Given the description of an element on the screen output the (x, y) to click on. 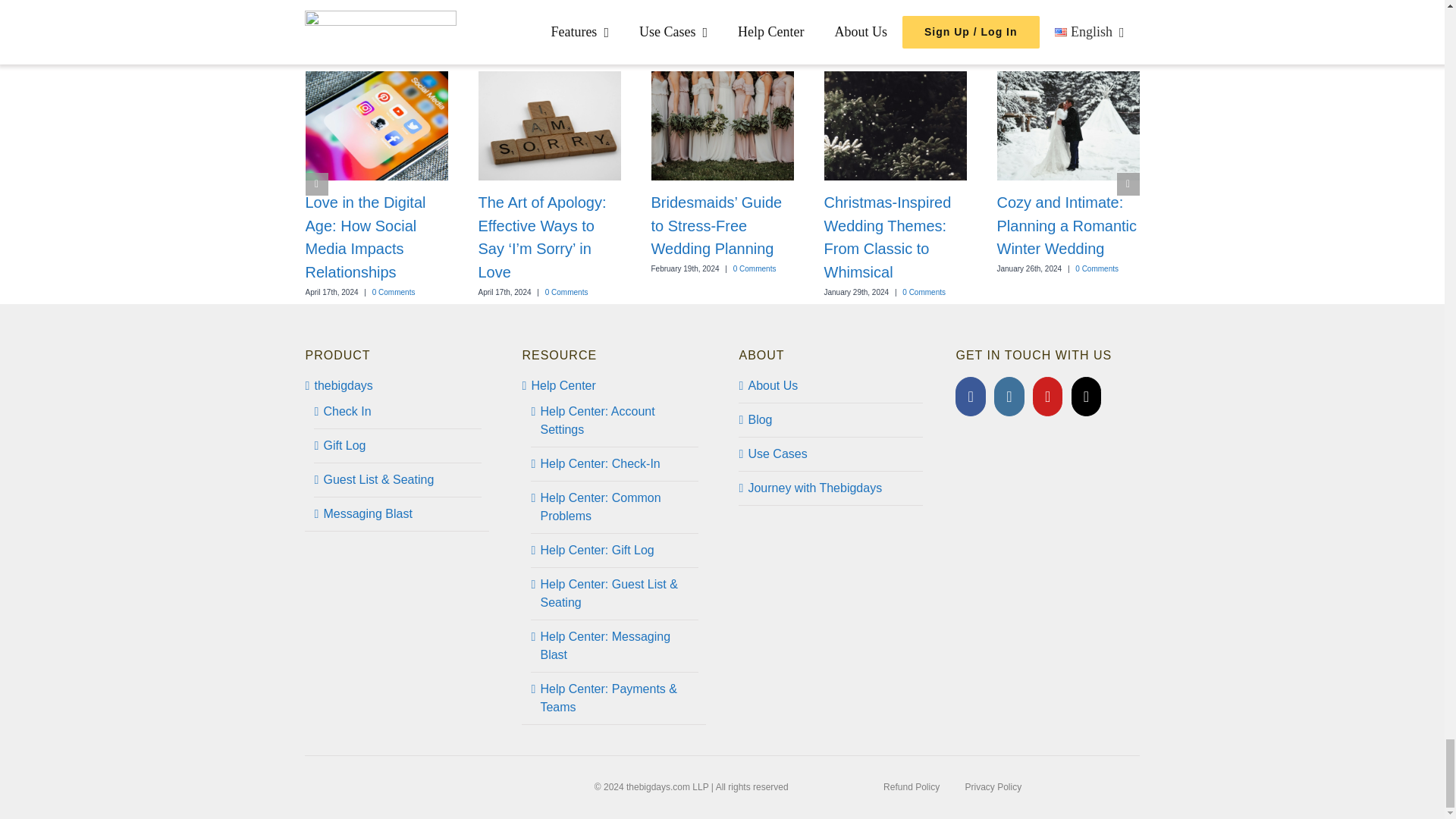
Cozy and Intimate: Planning a Romantic Winter Wedding (1066, 225)
Christmas-Inspired Wedding Themes: From Classic to Whimsical (887, 237)
